Given the description of an element on the screen output the (x, y) to click on. 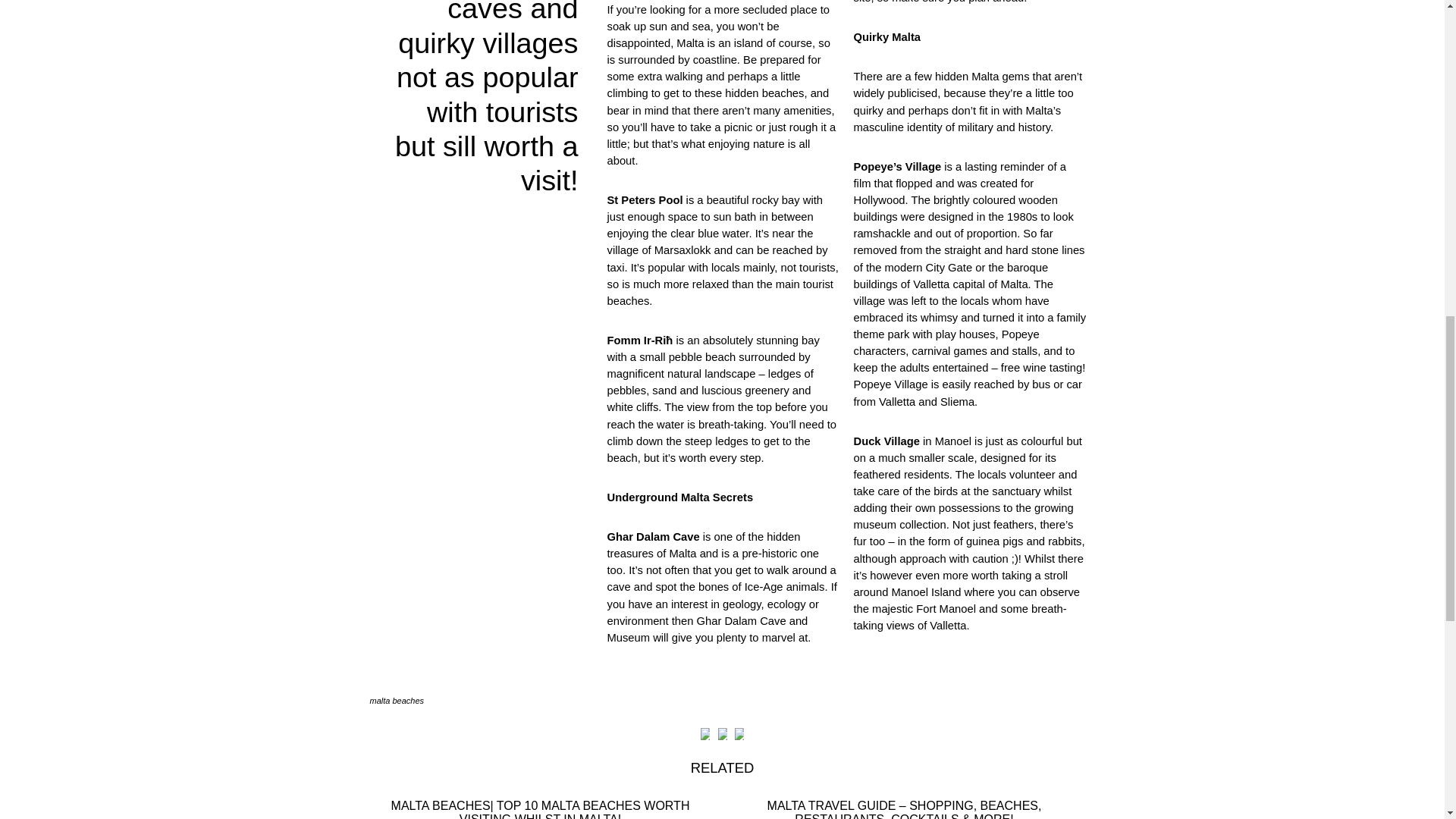
malta beaches (397, 700)
Share on Facebook (705, 732)
Tweet (721, 732)
